Given the description of an element on the screen output the (x, y) to click on. 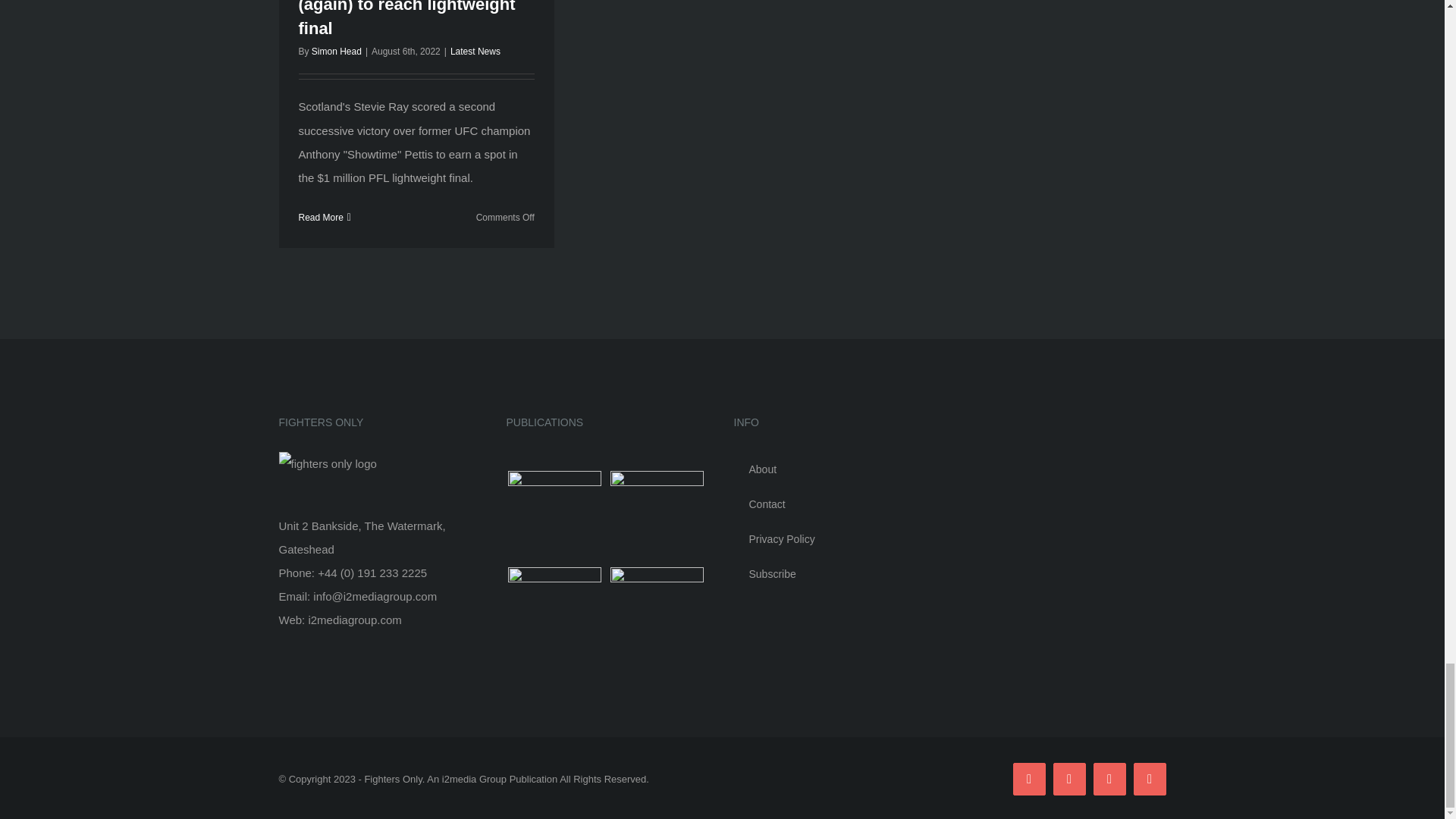
Posts by Simon Head (336, 50)
Twitter (1149, 778)
Instagram (1109, 778)
Facebook (1029, 778)
YouTube (1068, 778)
